Given the description of an element on the screen output the (x, y) to click on. 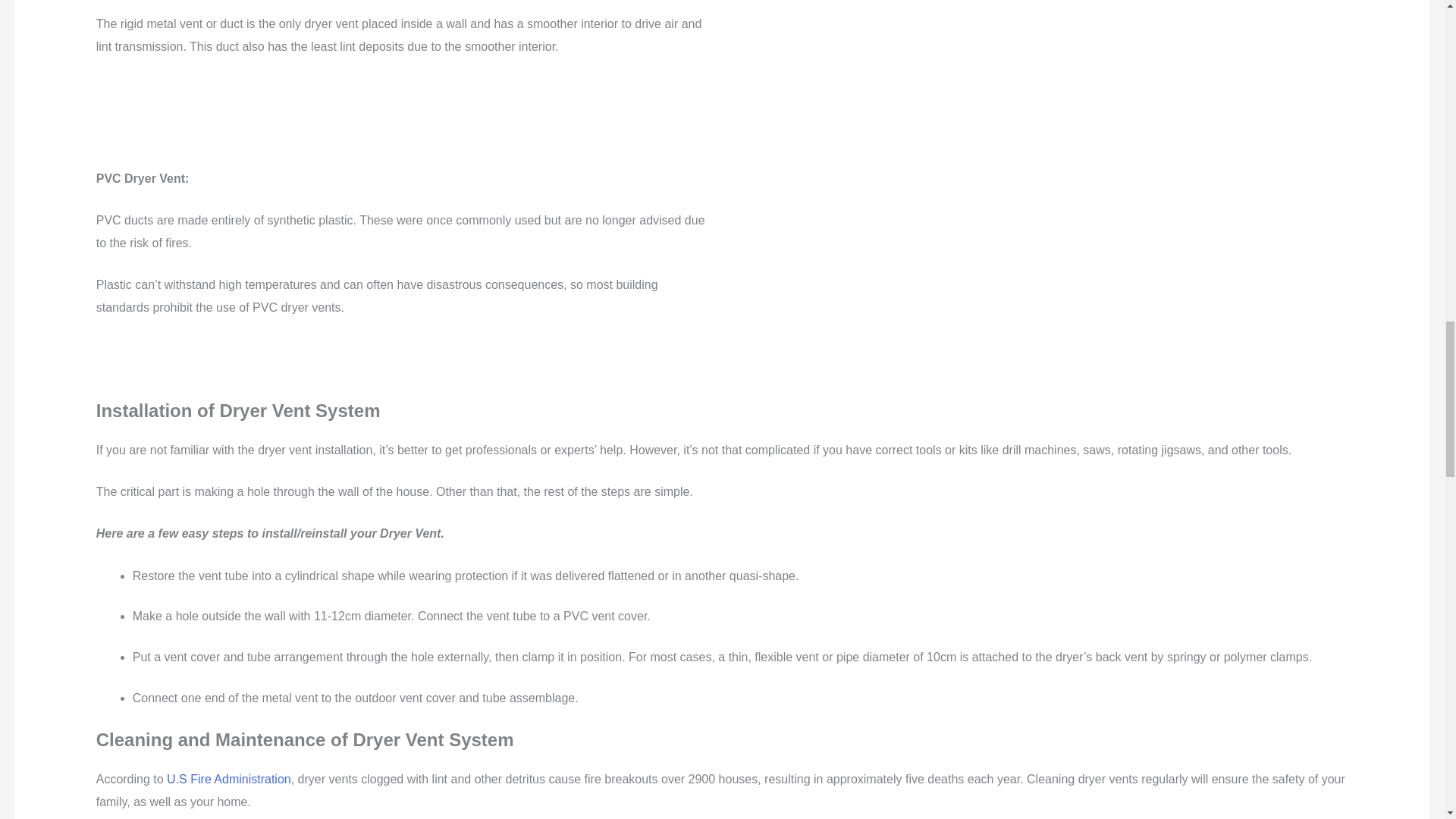
U.S Fire Administration (229, 779)
